Given the description of an element on the screen output the (x, y) to click on. 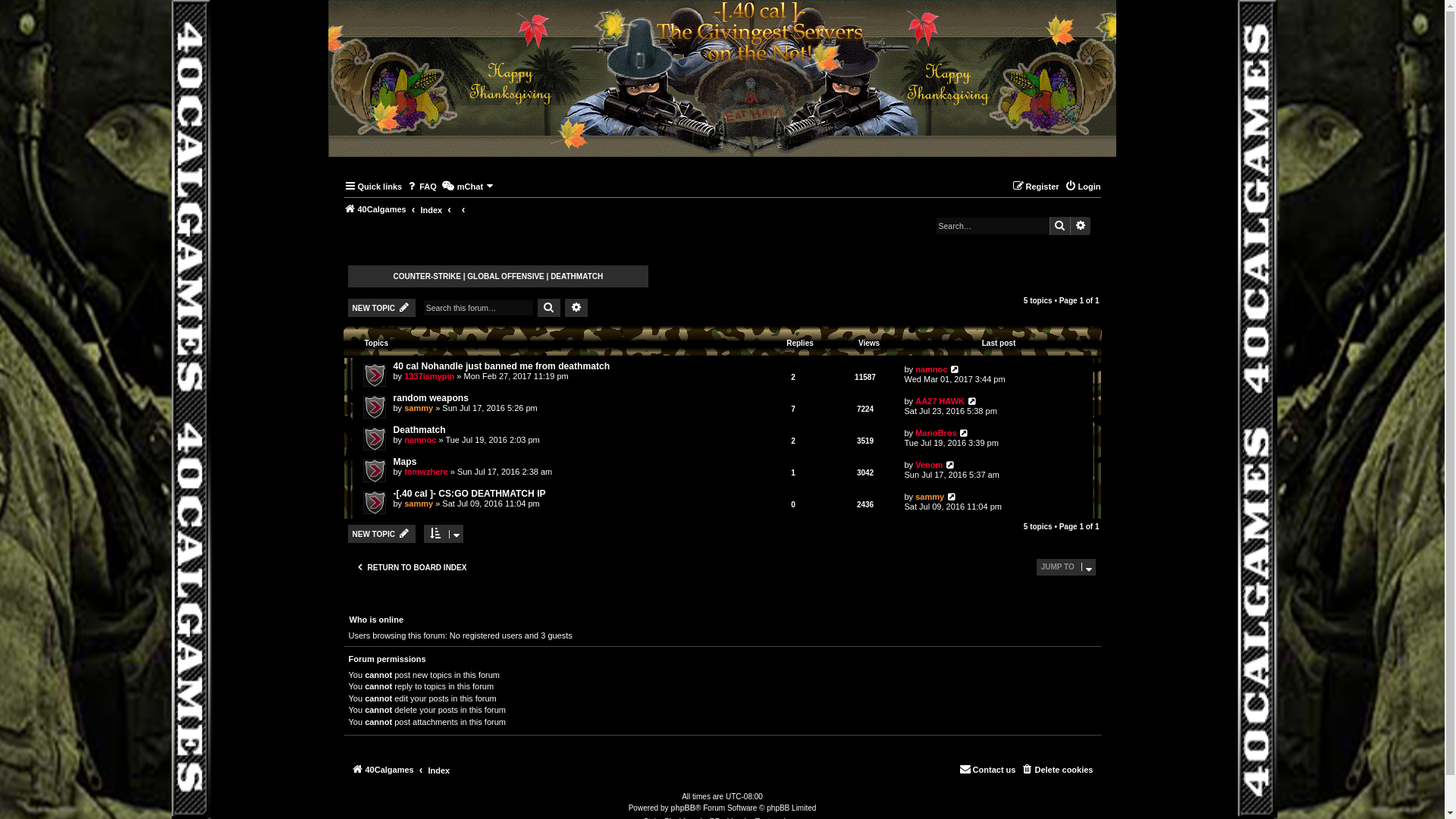
Go to last post Element type: hover (971, 401)
40Calgames Element type: text (382, 769)
SEARCH Element type: text (548, 307)
phpBB Element type: text (682, 808)
COUNTER-STRIKE | GLOBAL OFFENSIVE | DEATHMATCH Element type: text (498, 276)
Index Element type: text (438, 770)
40Calgames Element type: text (375, 209)
Quick links Element type: text (373, 186)
tomwzhere Element type: text (425, 471)
Maps Element type: text (404, 461)
40Calgames Element type: hover (722, 78)
NEW TOPIC Element type: text (381, 533)
sammy Element type: text (929, 496)
Contact us Element type: text (987, 769)
namnoc Element type: text (420, 439)
MarioBros Element type: text (935, 432)
Index Element type: text (431, 209)
Delete cookies Element type: text (1056, 769)
Go to last post Element type: hover (964, 433)
Go to last post Element type: hover (949, 465)
1337ismypin Element type: text (429, 375)
Display and sorting options Element type: hover (443, 533)
Go to last post Element type: hover (951, 497)
40 cal Nohandle just banned me from deathmatch Element type: text (500, 365)
mChat Element type: text (468, 186)
sammy Element type: text (418, 503)
ADVANCED SEARCH Element type: text (575, 307)
Register Element type: text (1035, 186)
SEARCH Element type: text (1059, 225)
Login Element type: text (1082, 186)
Search for keywords Element type: hover (992, 225)
namnoc Element type: text (931, 368)
FAQ Element type: text (420, 186)
sammy Element type: text (418, 407)
Deathmatch Element type: text (418, 429)
random weapons Element type: text (429, 397)
ADVANCED SEARCH Element type: text (1079, 225)
Go to last post Element type: hover (954, 369)
NEW TOPIC Element type: text (381, 307)
AA27 HAWK Element type: text (939, 400)
Who is online Element type: text (375, 619)
Venom Element type: text (928, 464)
-[.40 cal ]- CS:GO DEATHMATCH IP Element type: text (468, 493)
RETURN TO BOARD INDEX Element type: text (410, 568)
